Given the description of an element on the screen output the (x, y) to click on. 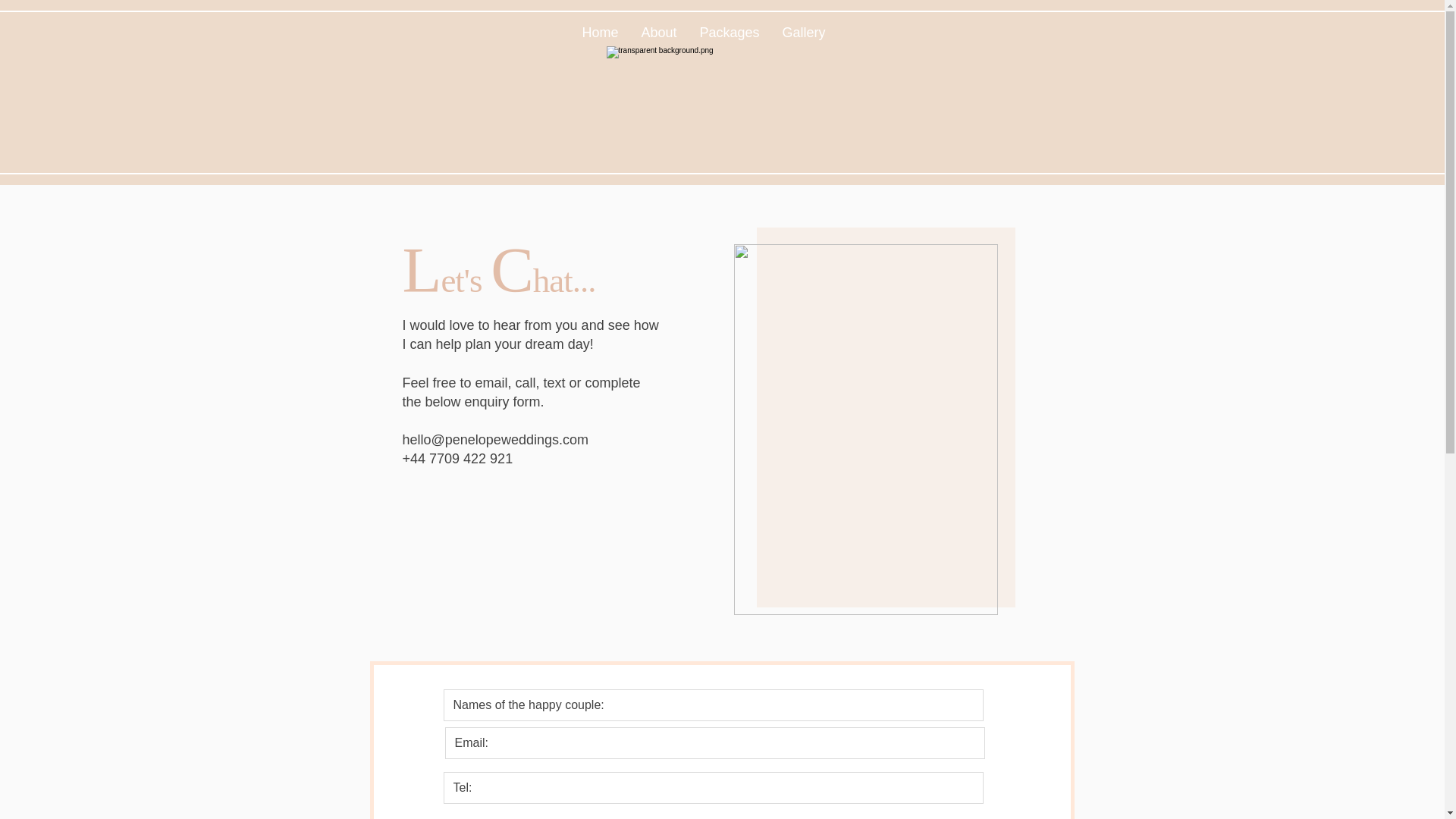
About (657, 31)
Home (599, 31)
Packages (729, 31)
Penelope Weddings Swirl .png (706, 105)
Gallery (802, 31)
